Given the description of an element on the screen output the (x, y) to click on. 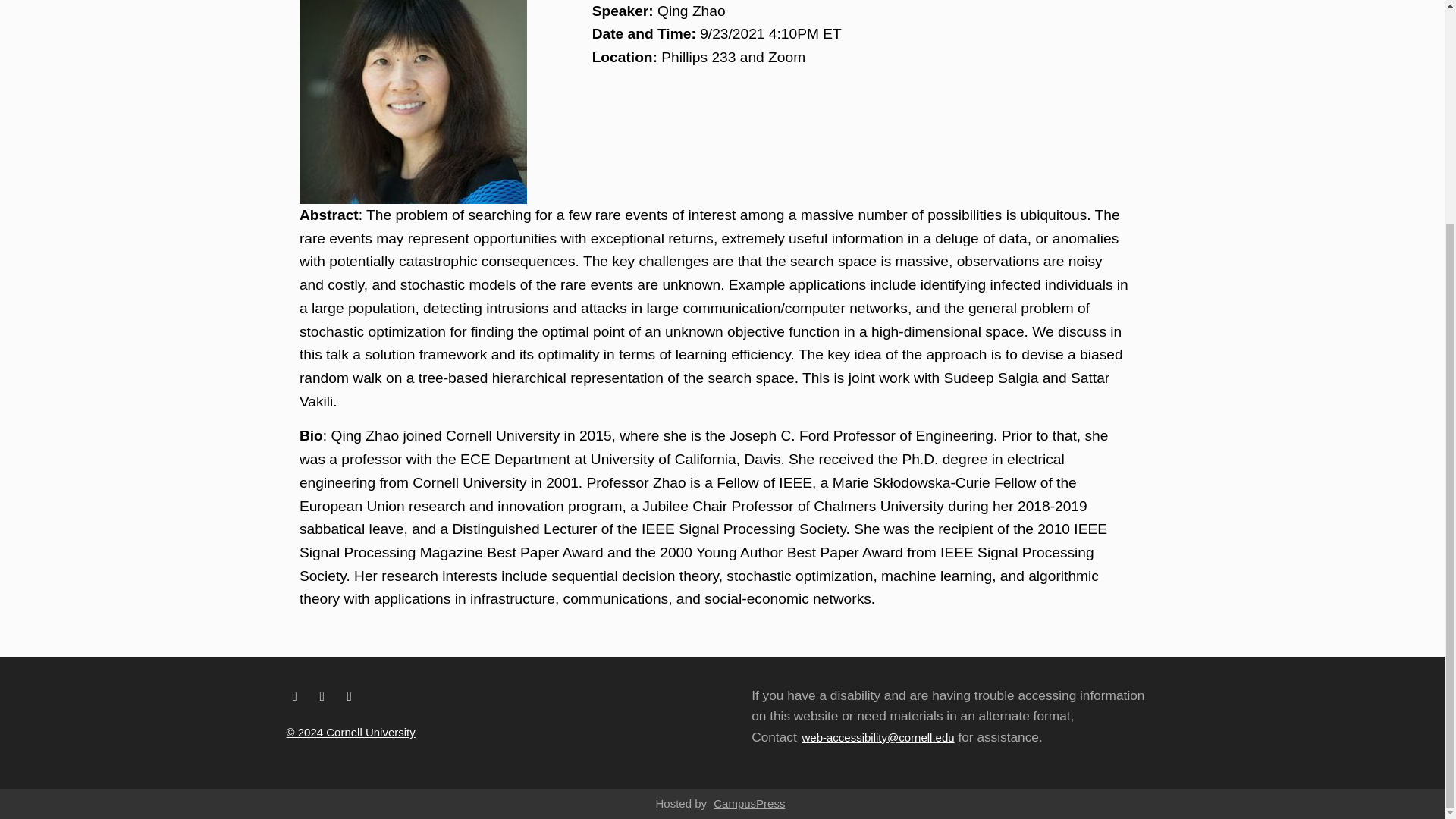
YouTube (349, 695)
Facebook (294, 695)
Web Accessibility Help (877, 737)
Twitter (322, 695)
